Given the description of an element on the screen output the (x, y) to click on. 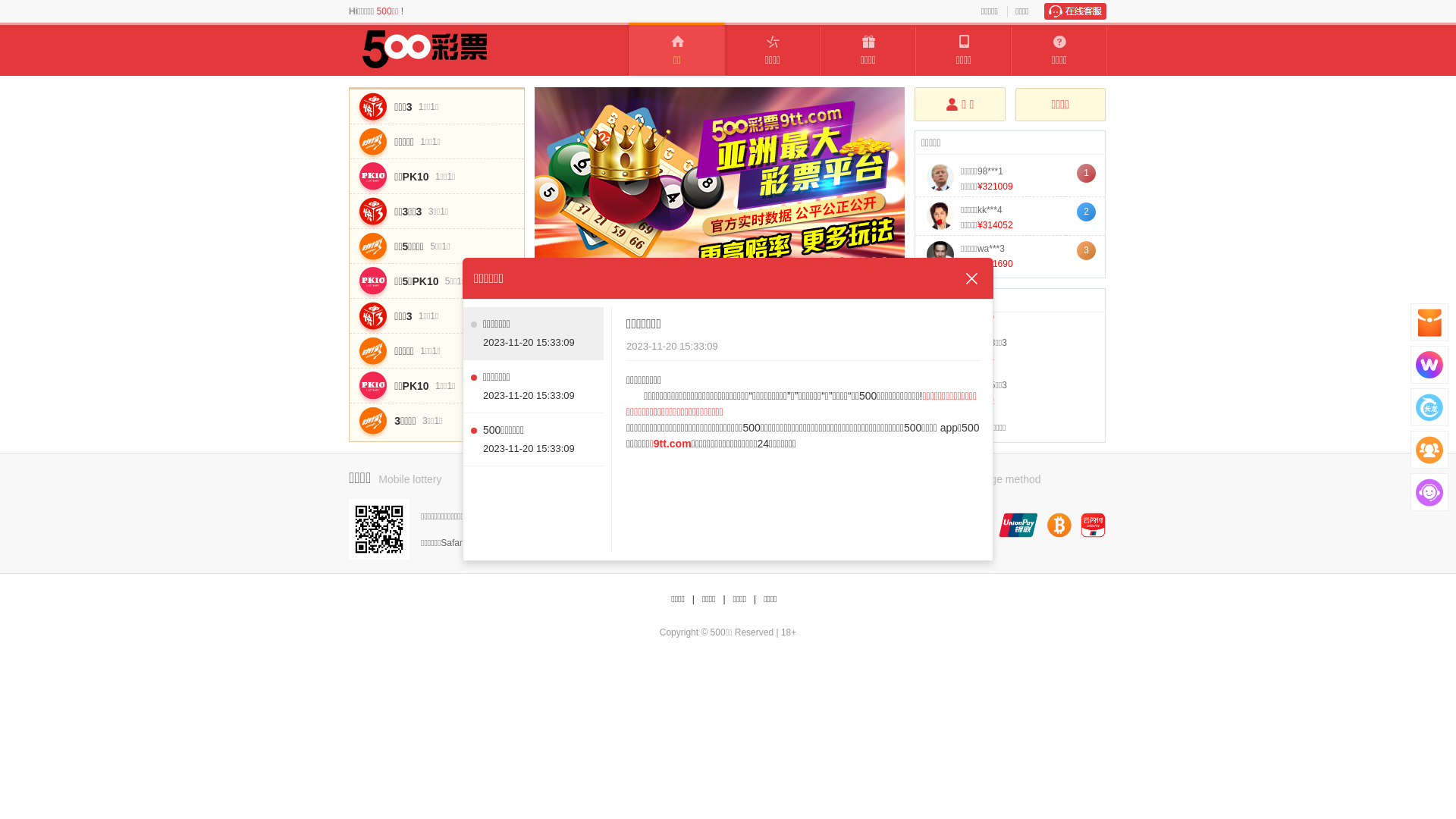
| Element type: text (723, 599)
| Element type: text (754, 599)
| Element type: text (693, 599)
